Given the description of an element on the screen output the (x, y) to click on. 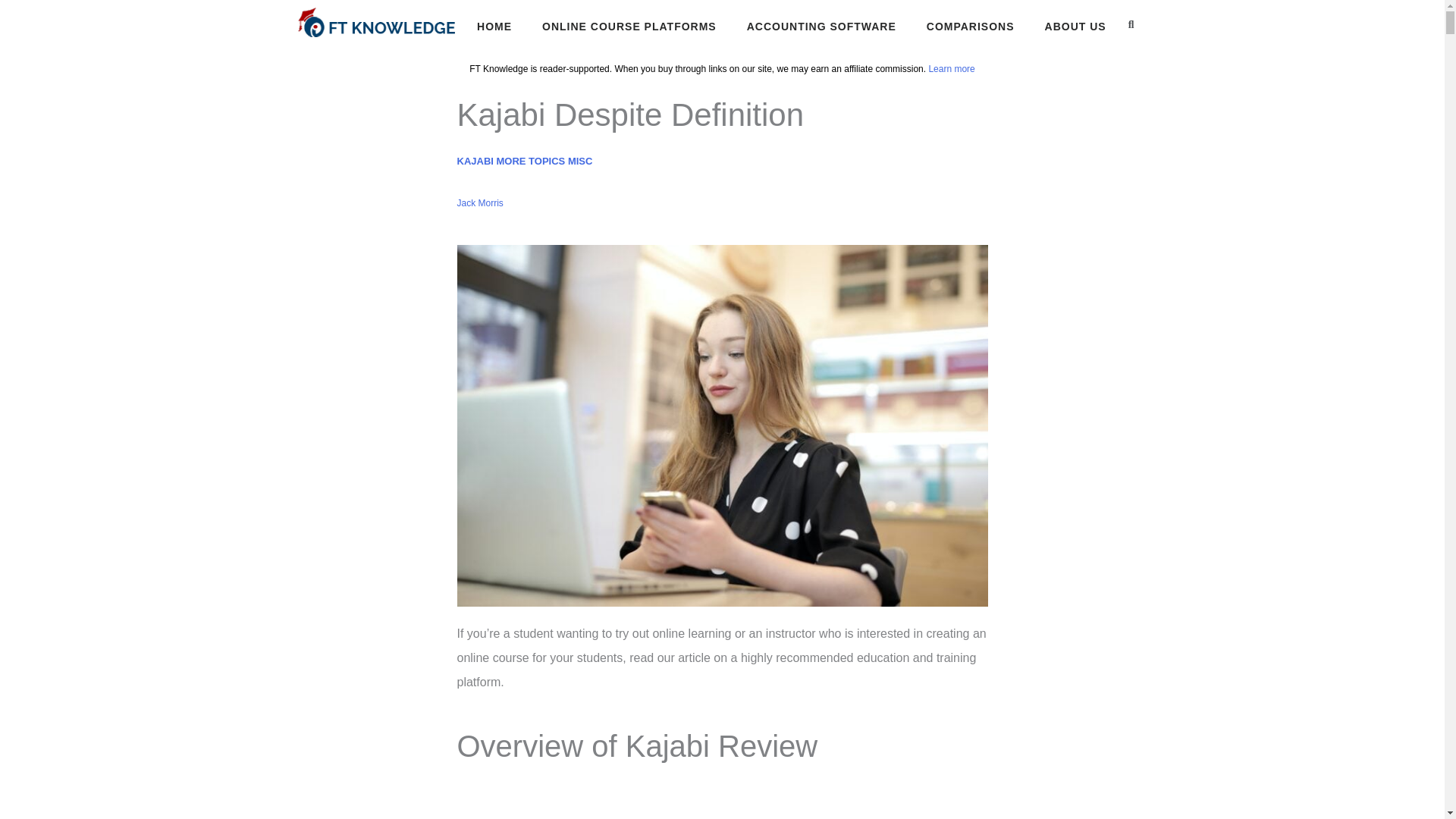
ABOUT US (1075, 26)
Jack Morris (479, 202)
KAJABI MORE TOPICS MISC (524, 161)
COMPARISONS (970, 26)
ONLINE COURSE PLATFORMS (628, 26)
HOME (494, 26)
ACCOUNTING SOFTWARE (821, 26)
Learn more (951, 68)
